Given the description of an element on the screen output the (x, y) to click on. 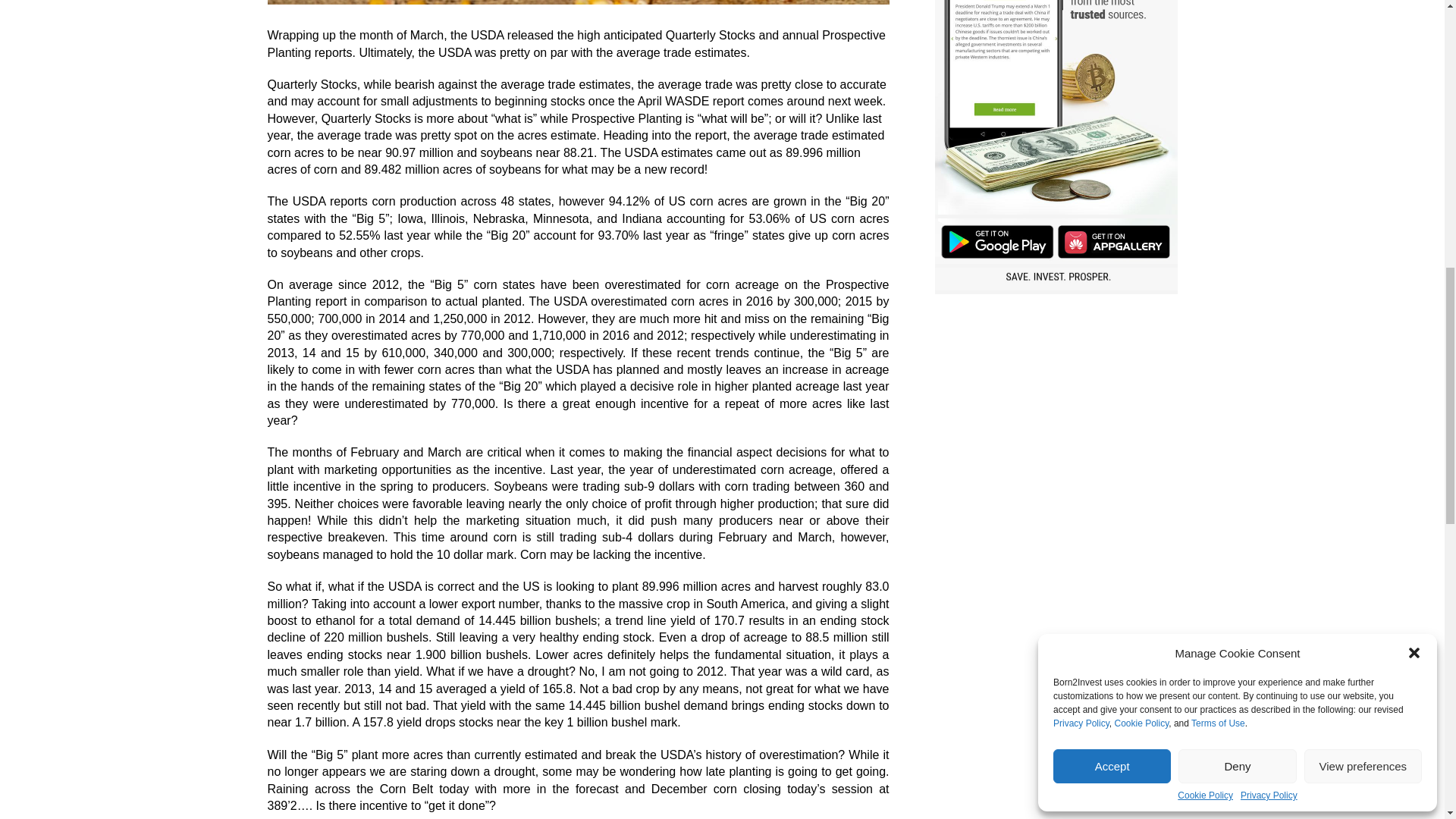
Advertisement (1055, 411)
